Given the description of an element on the screen output the (x, y) to click on. 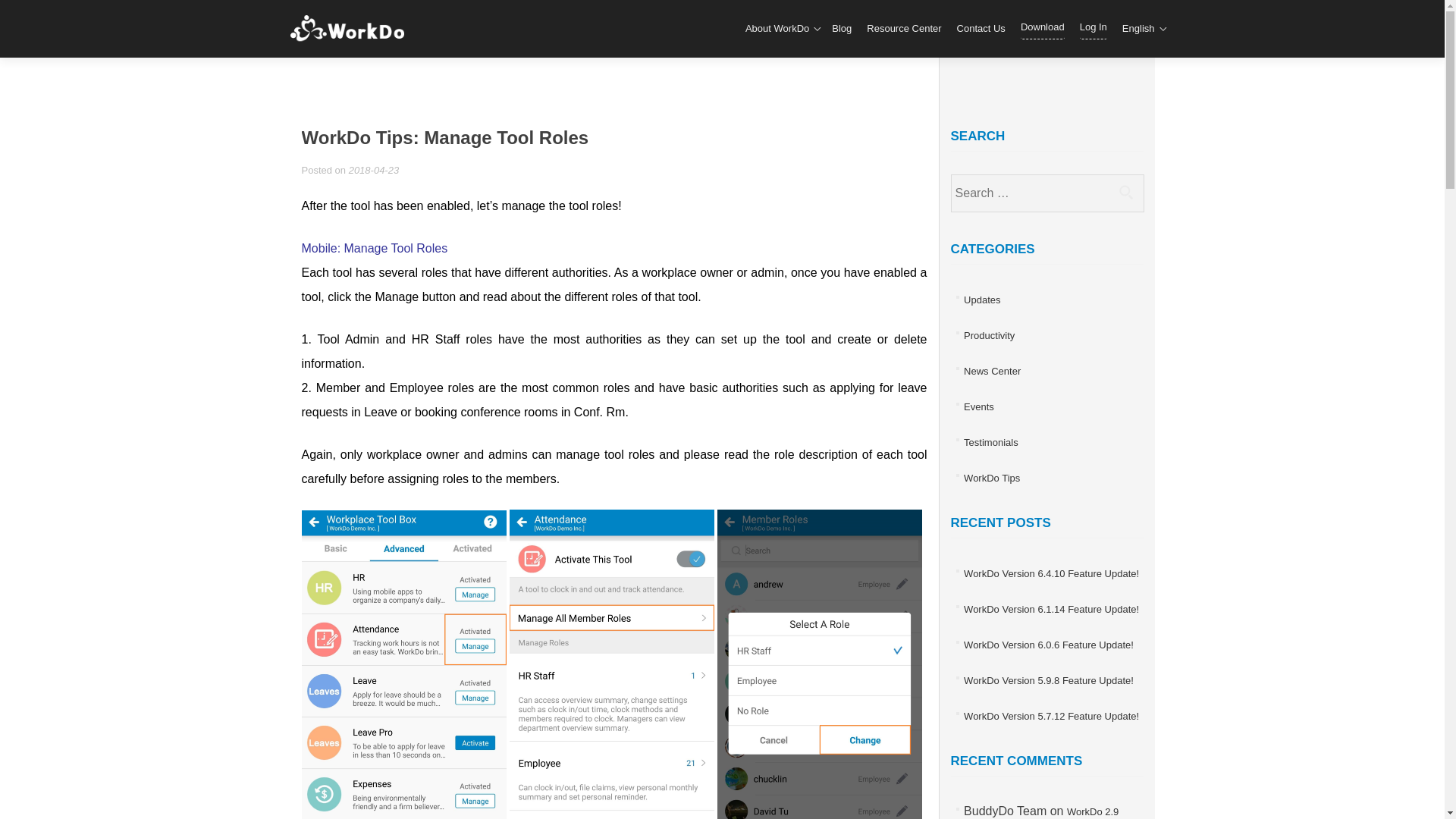
View all posts filed under Testimonials (990, 441)
Log In (1093, 27)
WorkDo (352, 28)
Productivity (988, 335)
Contact Us (981, 28)
Testimonials (990, 441)
Search (1125, 191)
Download (1042, 27)
Events (978, 406)
View all posts filed under Events (978, 406)
